Given the description of an element on the screen output the (x, y) to click on. 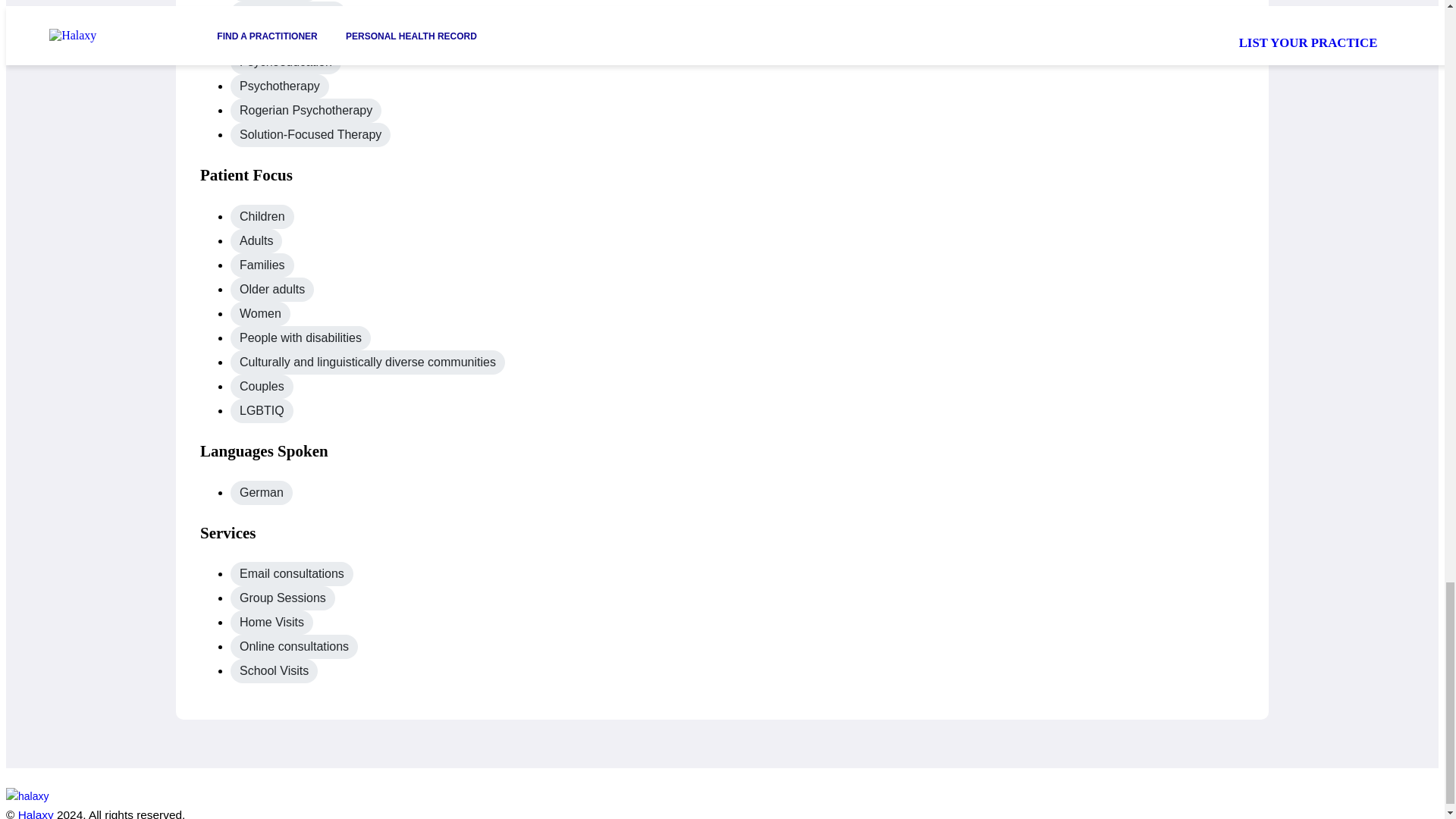
Halaxy - Helping you navigate the galaxy of health (74, 796)
